Given the description of an element on the screen output the (x, y) to click on. 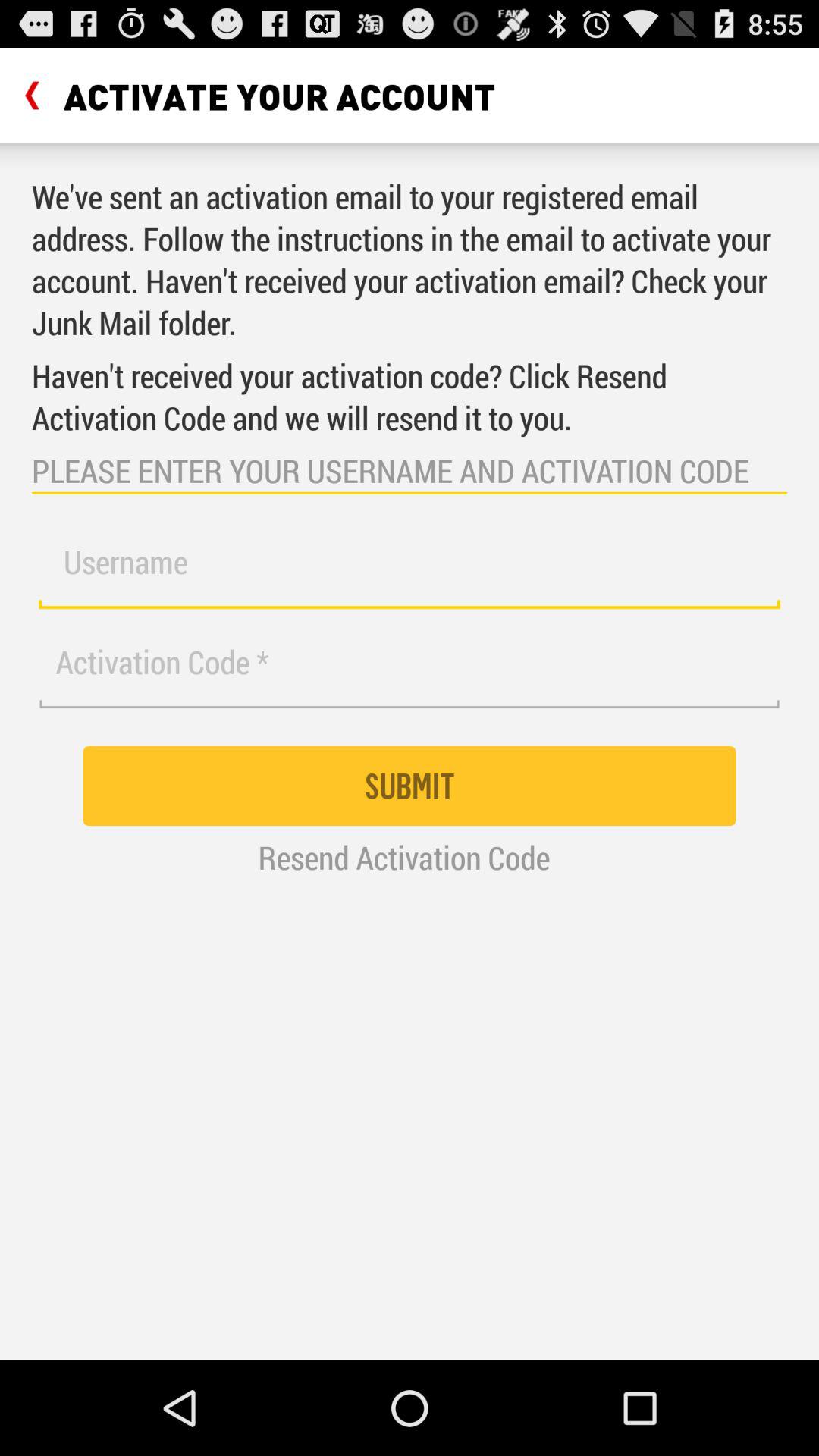
scroll to the submit (409, 785)
